Given the description of an element on the screen output the (x, y) to click on. 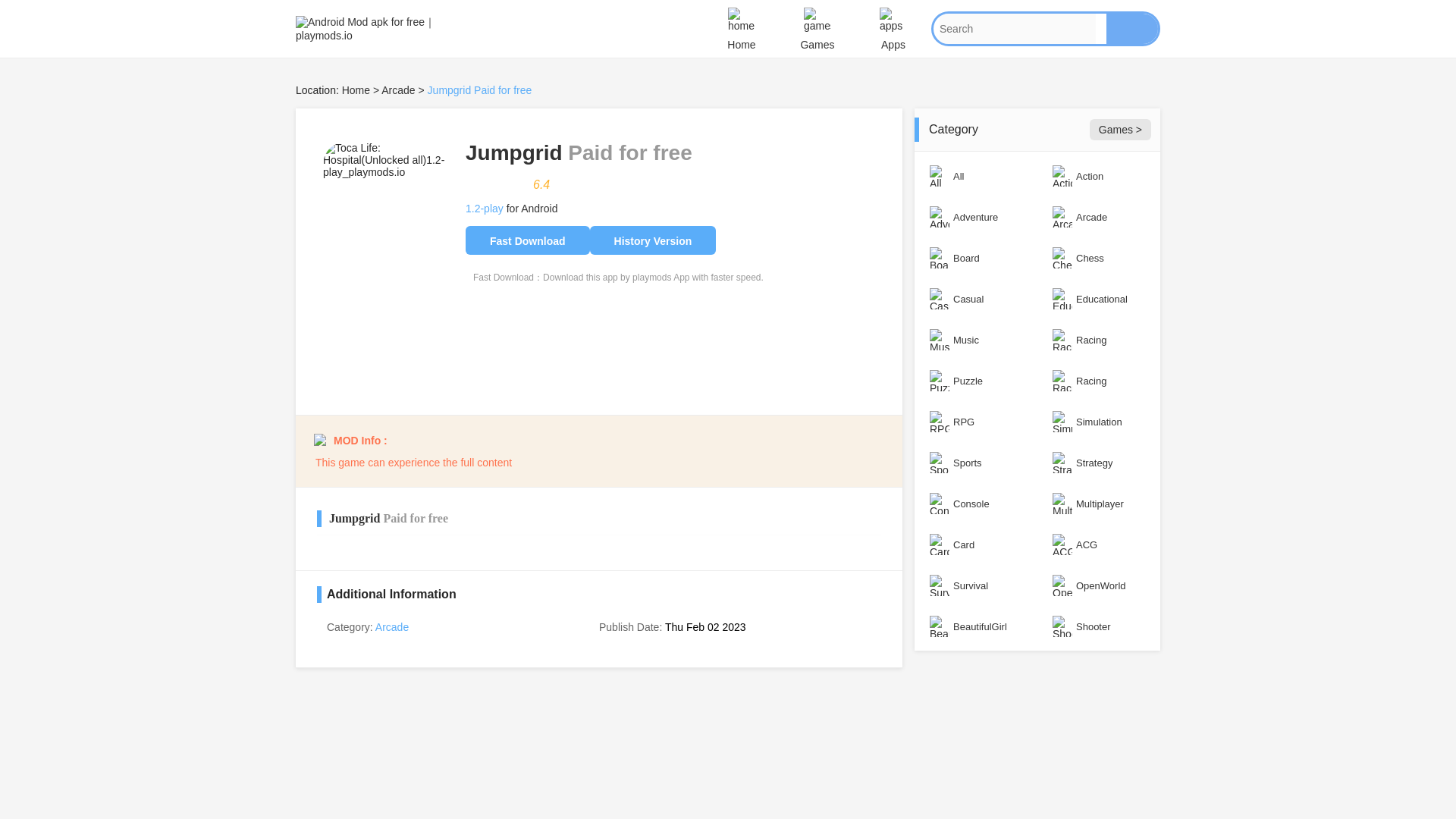
Action (1098, 175)
Racing (1098, 380)
Casual (975, 298)
Shooter (1098, 626)
Puzzle (975, 380)
All (975, 175)
Music (975, 339)
ACG (1098, 544)
Fast Download (527, 240)
Strategy (1098, 462)
